Given the description of an element on the screen output the (x, y) to click on. 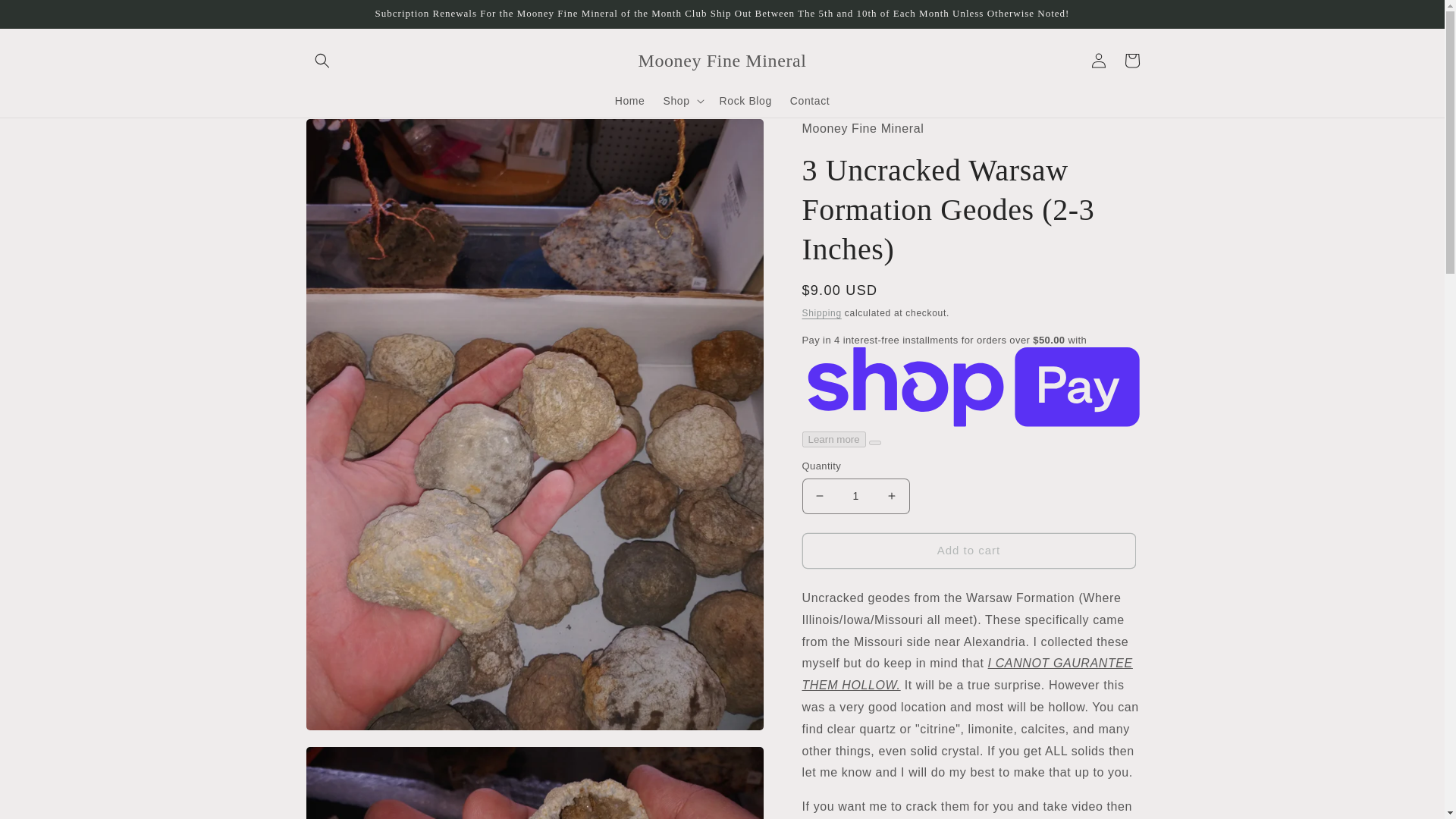
Mooney Fine Mineral (721, 60)
Home (629, 101)
Rock Blog (745, 101)
1 (856, 496)
Contact (809, 101)
Skip to content (45, 17)
Skip to product information (350, 135)
Cart (1131, 60)
Log in (1098, 60)
